Given the description of an element on the screen output the (x, y) to click on. 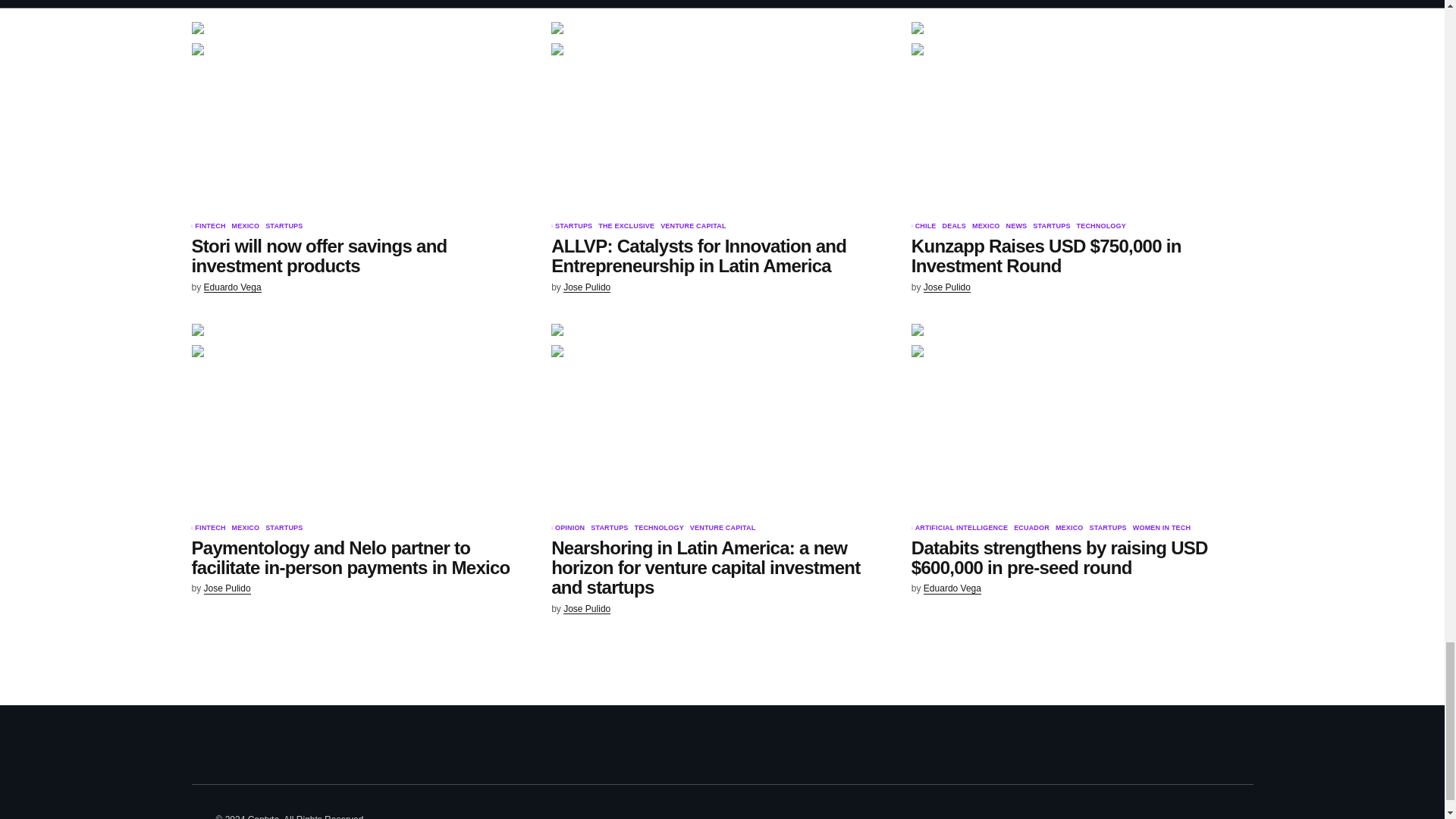
Stori will now offer savings and investment products (361, 117)
